Given the description of an element on the screen output the (x, y) to click on. 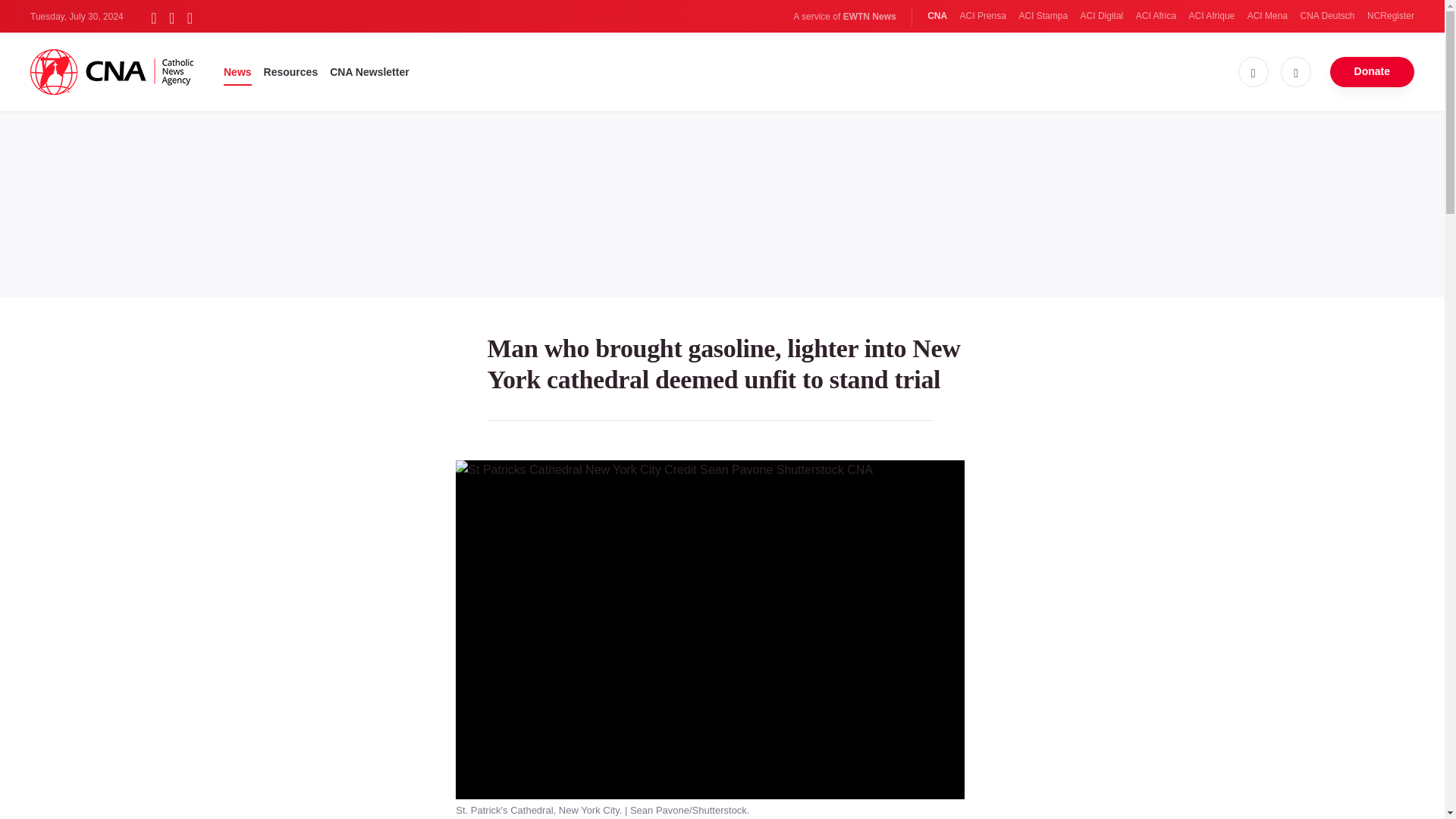
Resources (290, 71)
EWTN News (869, 16)
ACI Mena (1267, 16)
CNA Deutsch (1327, 16)
EWTN News (869, 16)
ACI Stampa (1042, 16)
ACI Africa (1155, 16)
News (237, 71)
NCRegister (1390, 16)
ACI Prensa (982, 16)
CNA (937, 16)
ACI Afrique (1211, 16)
ACI Digital (1102, 16)
